Given the description of an element on the screen output the (x, y) to click on. 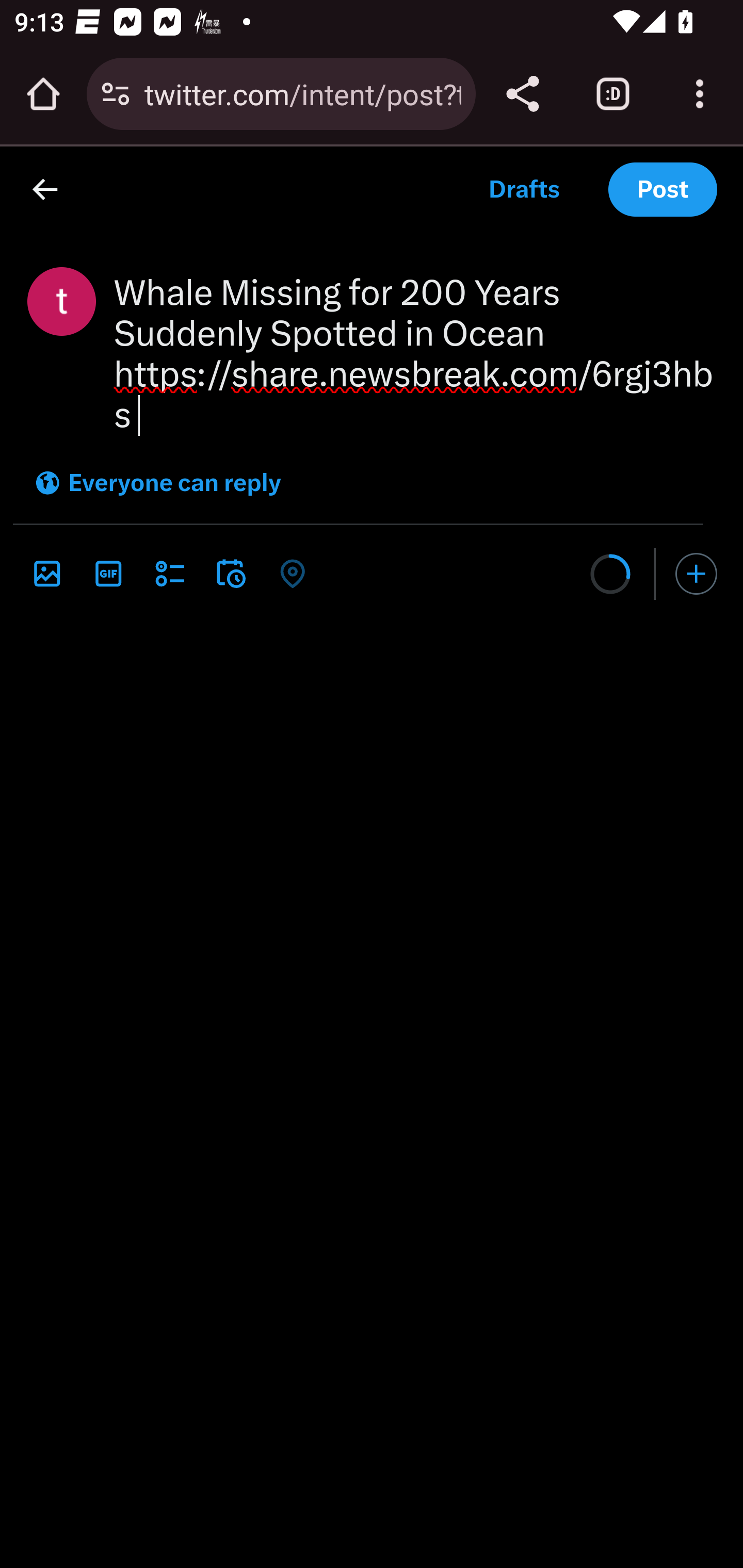
Open the home page (43, 93)
Connection is secure (115, 93)
Share (522, 93)
Switch or close tabs (612, 93)
Customize and control Google Chrome (699, 93)
Back (43, 188)
Drafts (523, 189)
Post (662, 189)
Everyone can reply (157, 483)
Add photos or video (46, 572)
Previous (50, 572)
Add a GIF (108, 572)
Add poll (169, 572)
Schedule post (230, 572)
Tag Location (292, 572)
Add post (696, 573)
View keyboard shortcuts (1, 1558)
